Given the description of an element on the screen output the (x, y) to click on. 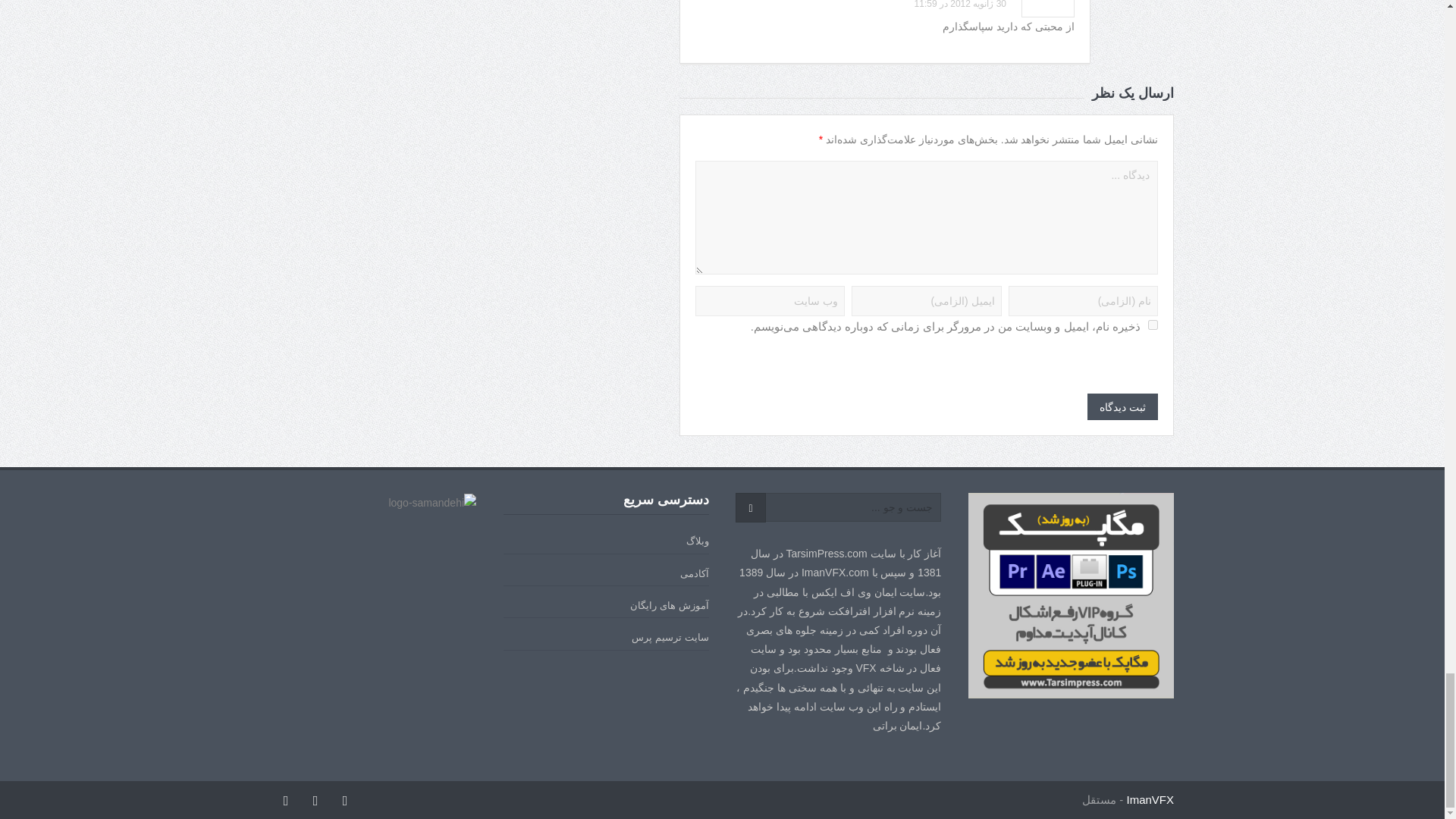
yes (1152, 325)
